Given the description of an element on the screen output the (x, y) to click on. 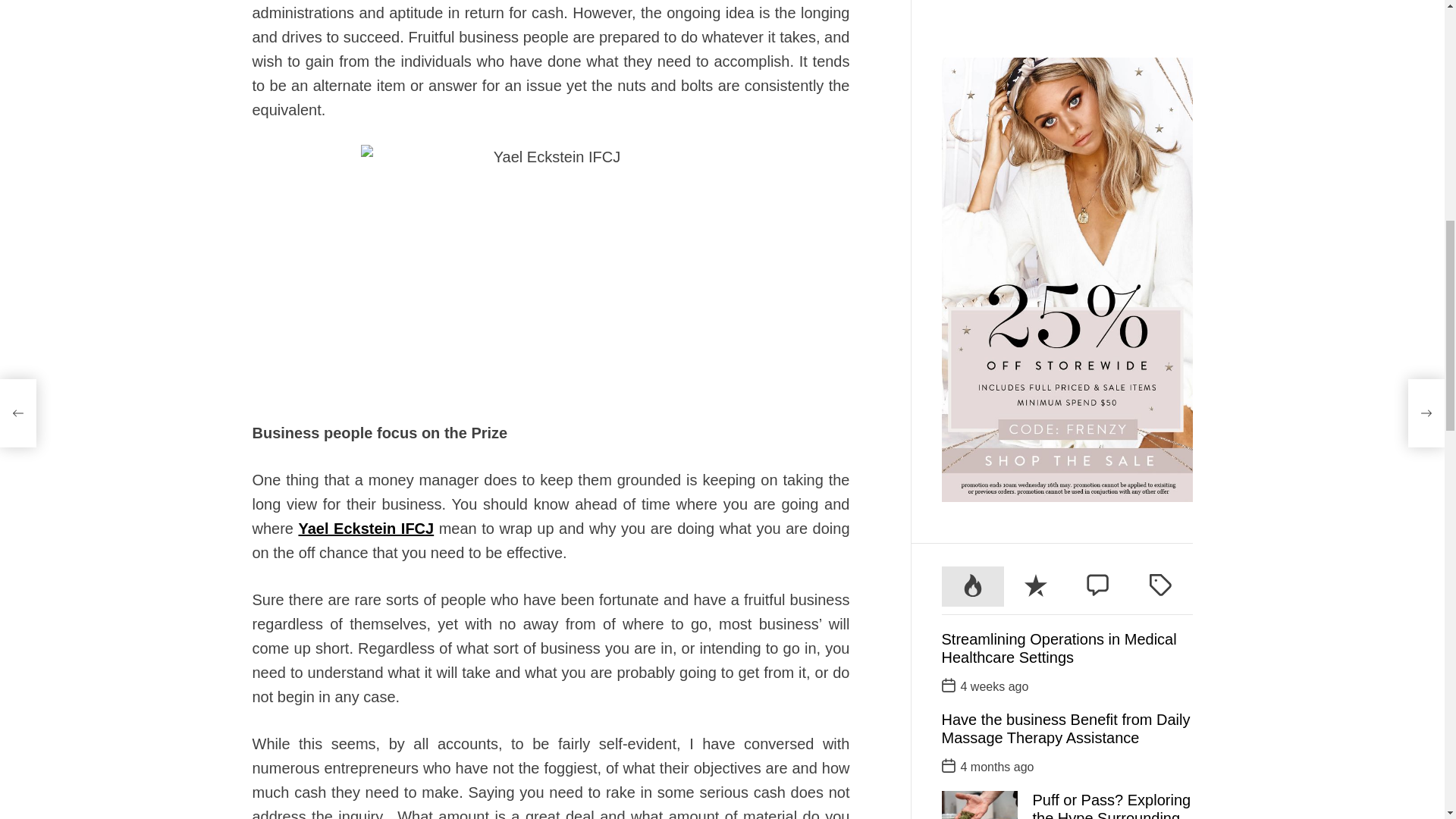
Streamlining Operations in Medical Healthcare Settings (1059, 126)
Tagged (1160, 65)
Comment (1098, 65)
Popular (973, 65)
Yael Eckstein IFCJ (365, 528)
Recent (1035, 65)
